Given the description of an element on the screen output the (x, y) to click on. 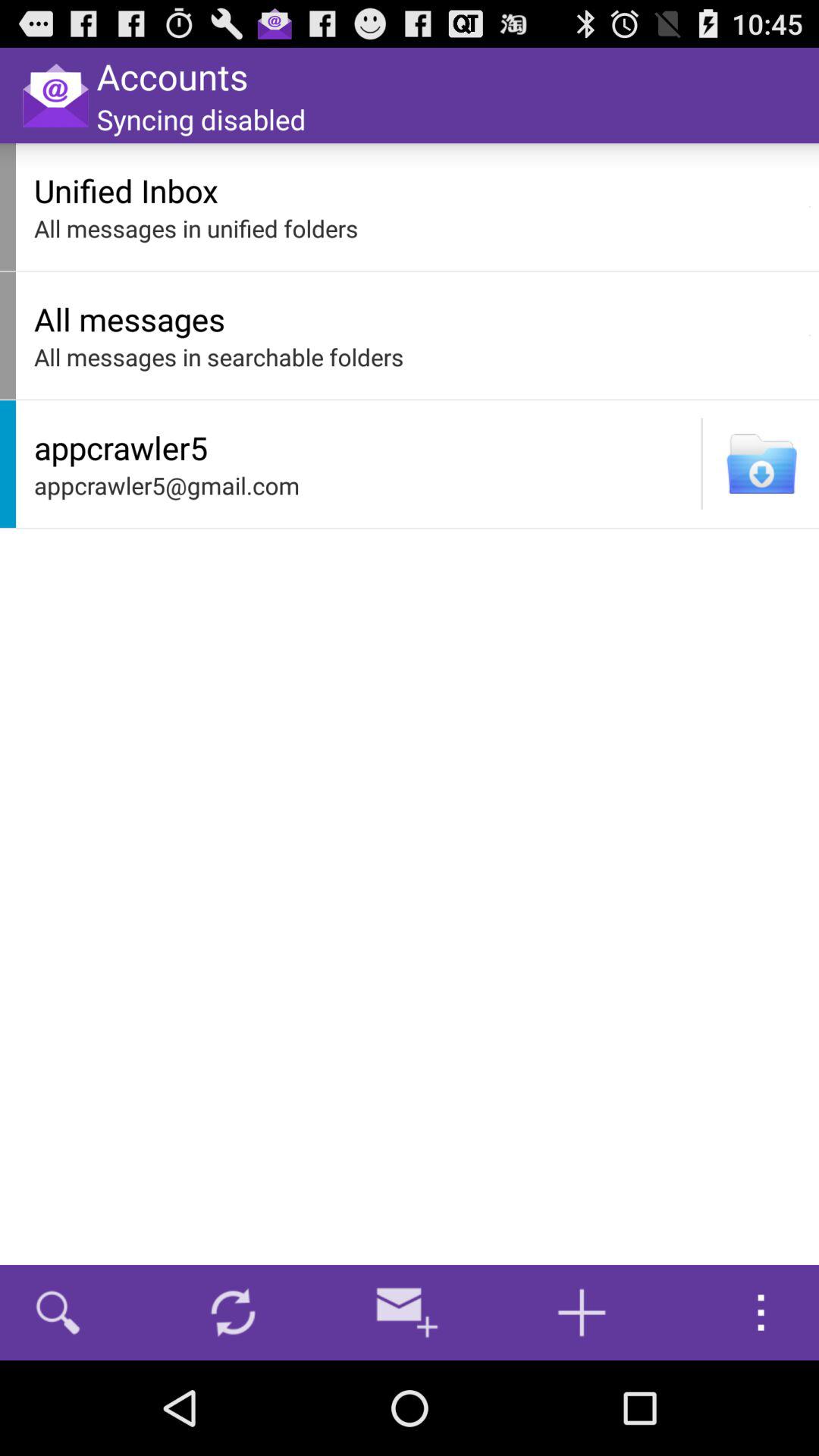
turn off icon below the appcrawler5@gmail.com item (407, 1312)
